Given the description of an element on the screen output the (x, y) to click on. 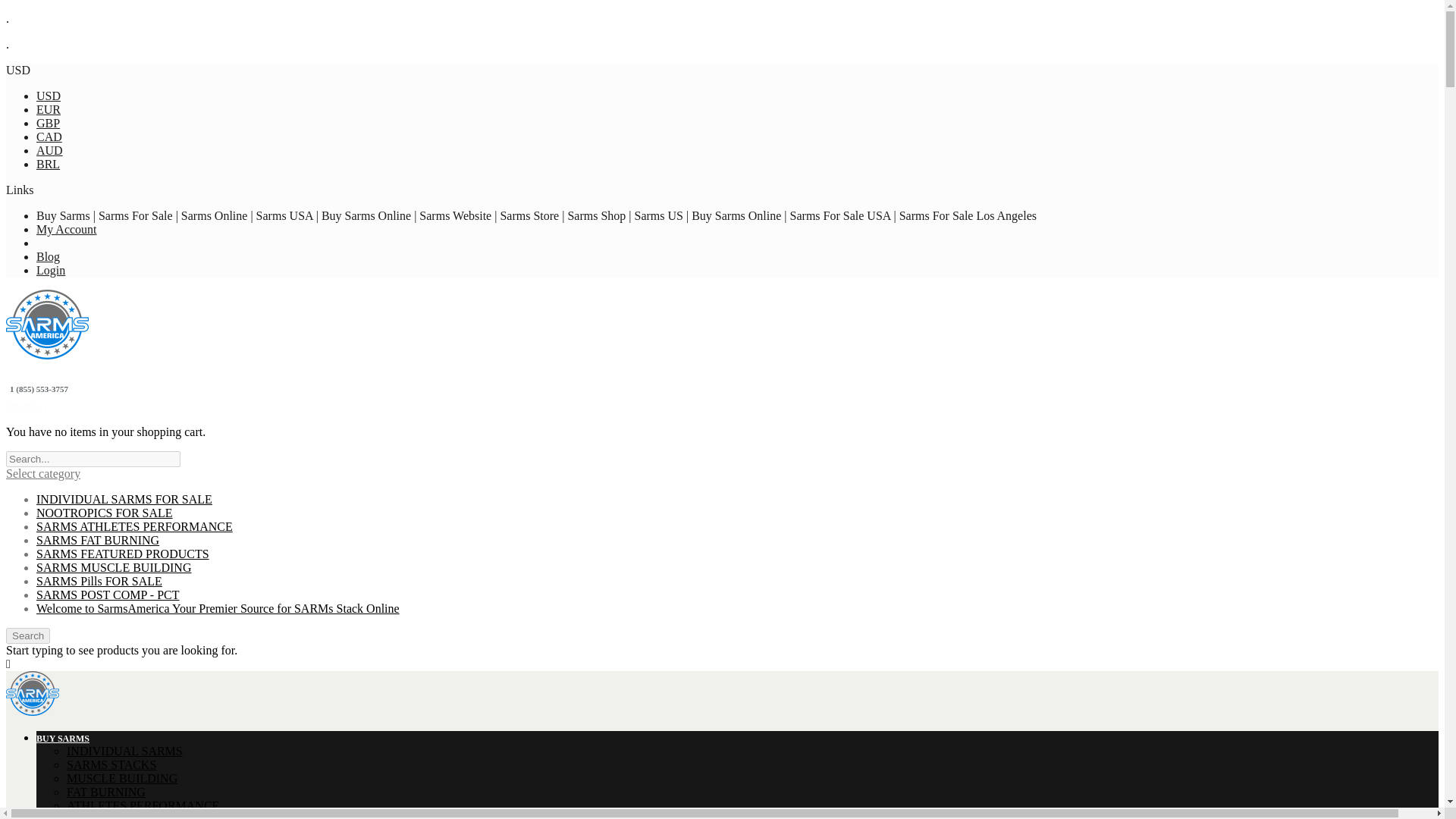
Search (27, 635)
NOOTROPICS FOR SALE (104, 512)
EUR (48, 109)
ATHLETES PERFORMANCE (142, 805)
MUSCLE BUILDING (121, 778)
SARMS ATHLETES PERFORMANCE (134, 526)
SARMS MUSCLE BUILDING (113, 567)
BUY SARMS (62, 738)
SARMS FAT BURNING (97, 540)
POST COMP - PCT (115, 816)
SARMS STACKS (110, 764)
SARMS POST COMP - PCT (107, 594)
SARMS FEATURED PRODUCTS (122, 553)
